Given the description of an element on the screen output the (x, y) to click on. 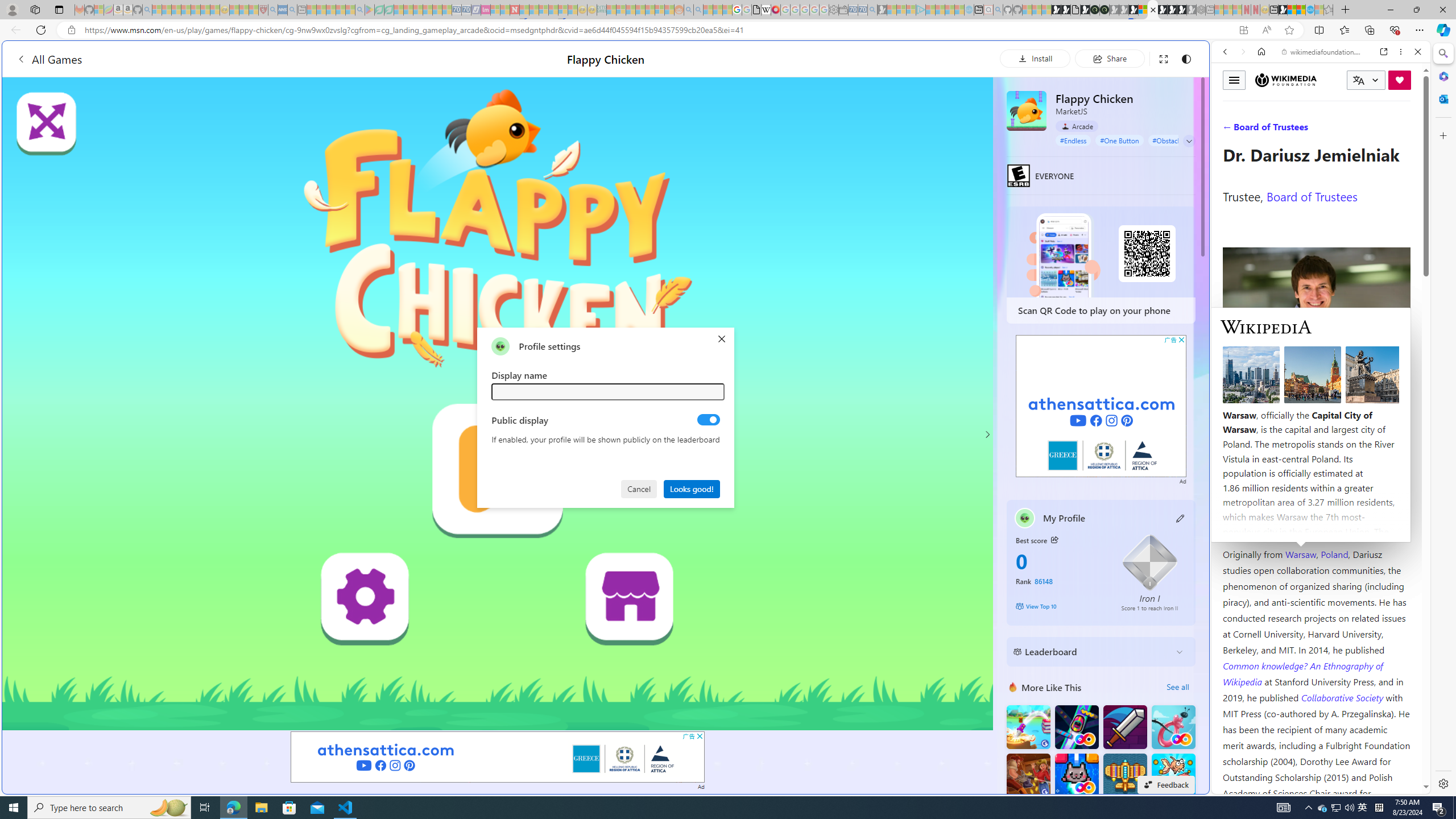
Donate now (1399, 80)
Board of Trustees (1311, 195)
Class: button edit-icon (1180, 517)
Actions for this site (1370, 583)
Recipes - MSN - Sleeping (234, 9)
Sign in to your account (1143, 9)
Fish Merge FRVR (1173, 775)
Preferences (1403, 129)
MSN (1118, 536)
Class: expand-arrow neutral (1188, 141)
New Report Confirms 2023 Was Record Hot | Watch - Sleeping (195, 9)
Microsoft 365 (1442, 76)
